Given the description of an element on the screen output the (x, y) to click on. 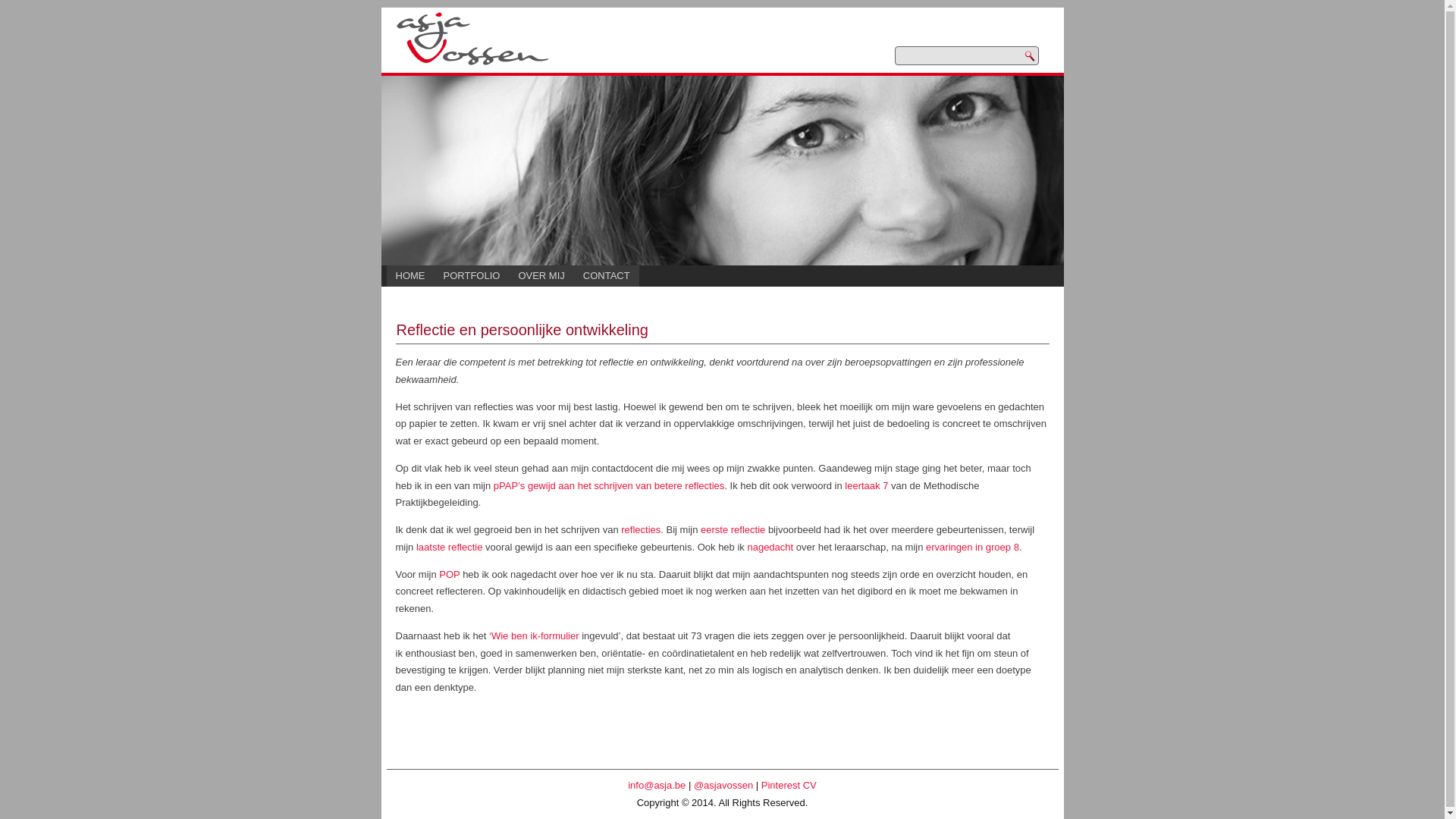
@asjavossen Element type: text (723, 784)
CONTACT Element type: text (606, 275)
nagedacht Element type: text (769, 546)
PORTFOLIO Element type: text (470, 275)
Pinterest CV Element type: text (788, 784)
laatste reflectie Element type: text (449, 546)
info@asja.be Element type: text (656, 784)
eerste reflectie Element type: text (732, 529)
OVER MIJ Element type: text (540, 275)
HOME Element type: text (410, 275)
reflecties Element type: text (640, 529)
leertaak 7 Element type: text (866, 484)
ervaringen in groep 8 Element type: text (972, 546)
POP Element type: text (449, 574)
